Given the description of an element on the screen output the (x, y) to click on. 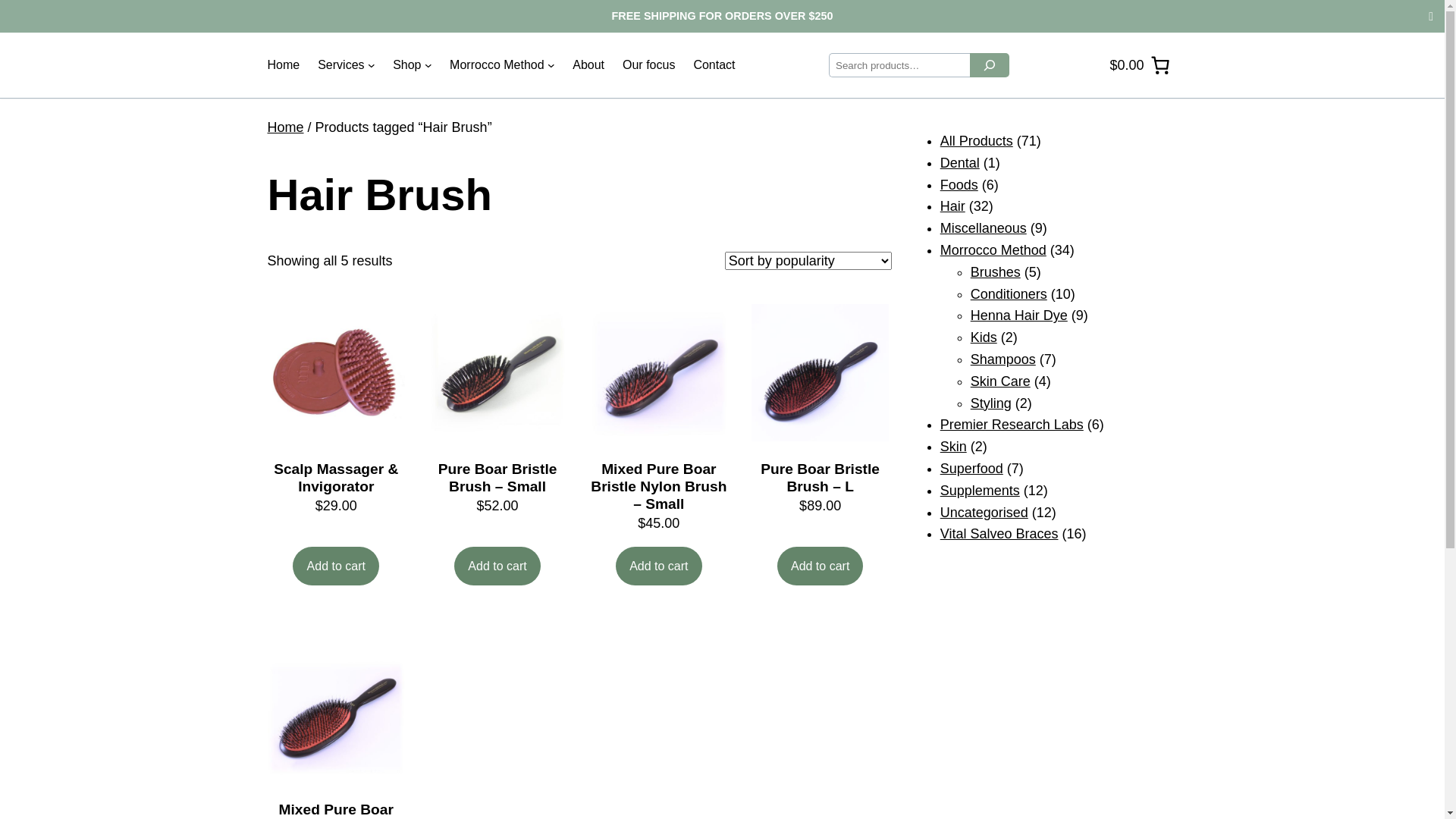
Brushes Element type: text (995, 271)
Hair Element type: text (952, 205)
Add to cart Element type: text (820, 565)
Morrocco Method Element type: text (496, 65)
All Products Element type: text (976, 140)
Skin Care Element type: text (1000, 381)
Henna Hair Dye Element type: text (1018, 315)
Add to cart Element type: text (335, 565)
Add to cart Element type: text (497, 565)
About Element type: text (588, 65)
Vital Salveo Braces Element type: text (999, 533)
Home Element type: text (282, 65)
Morrocco Method Element type: text (993, 249)
Conditioners Element type: text (1008, 293)
Skin Element type: text (953, 446)
Our focus Element type: text (648, 65)
Add to cart Element type: text (658, 565)
Kids Element type: text (983, 337)
Styling Element type: text (990, 403)
Shampoos Element type: text (1002, 359)
$0.00 Element type: text (1139, 64)
Scalp Massager & Invigorator
$29.00 Element type: text (335, 410)
Foods Element type: text (959, 184)
Contact Element type: text (713, 65)
Dental Element type: text (959, 162)
Supplements Element type: text (979, 490)
Superfood Element type: text (971, 468)
Home Element type: text (284, 126)
Premier Research Labs Element type: text (1011, 424)
Services Element type: text (340, 65)
Shop Element type: text (406, 65)
Uncategorised Element type: text (984, 512)
Miscellaneous Element type: text (983, 227)
